Given the description of an element on the screen output the (x, y) to click on. 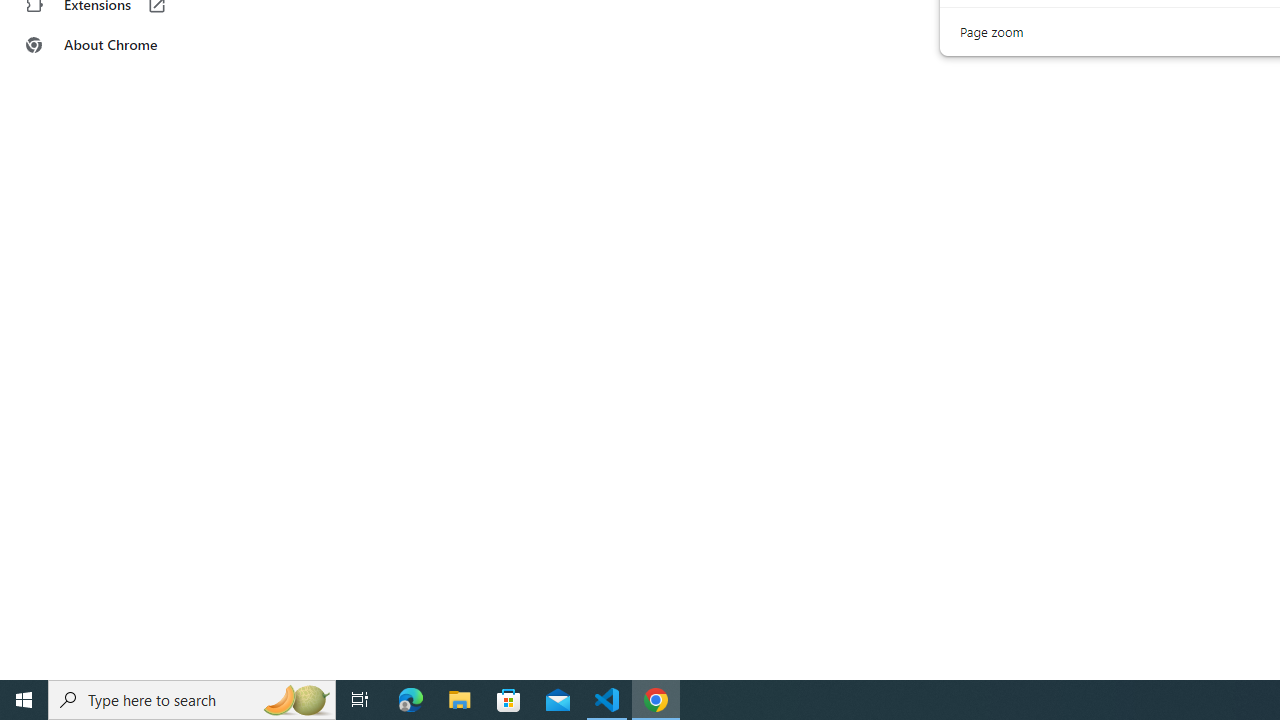
About Chrome (124, 44)
